Given the description of an element on the screen output the (x, y) to click on. 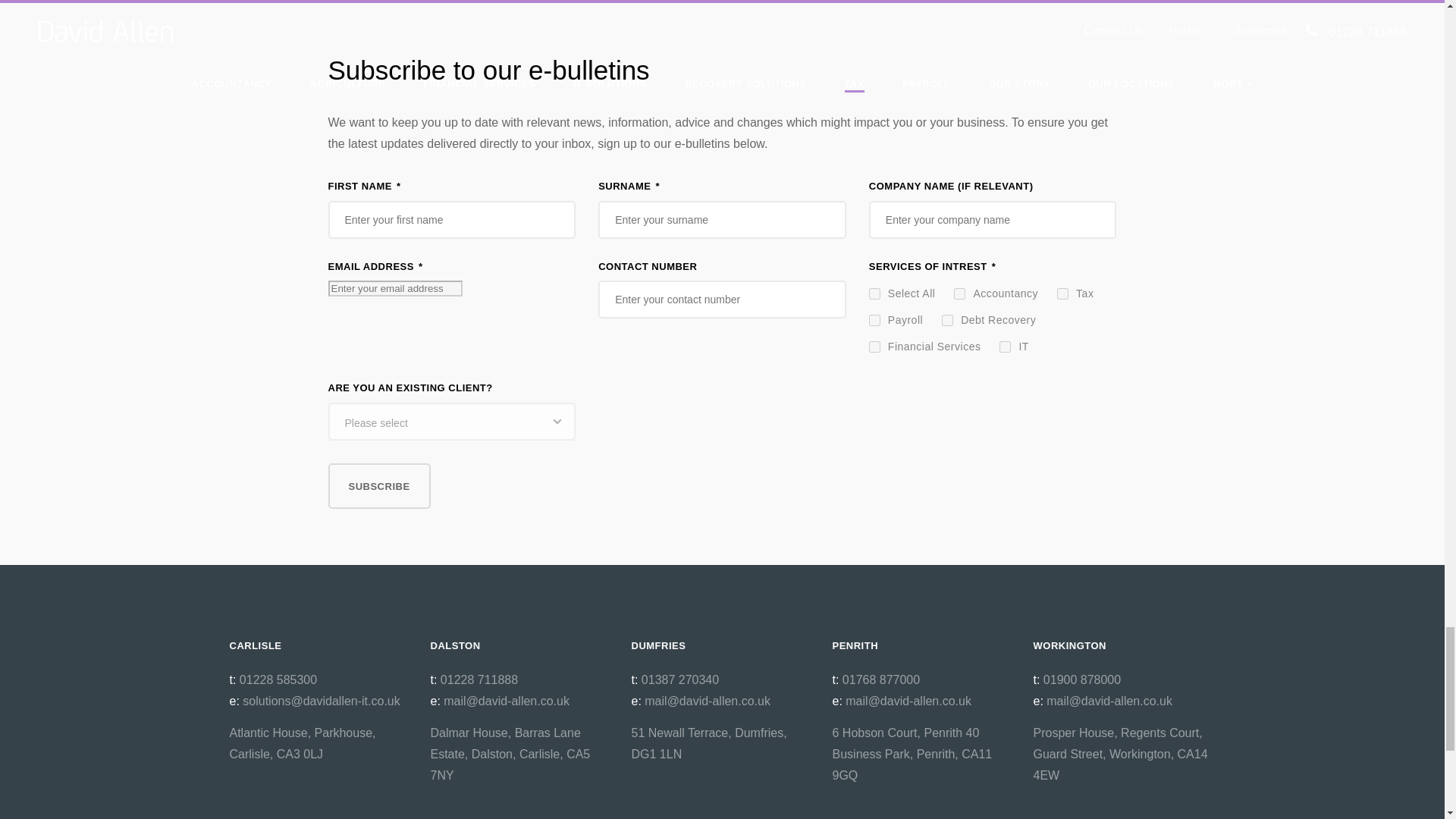
Debt Recovery (947, 319)
Financial Services (874, 346)
IT (1004, 346)
Tax (1062, 293)
Payroll (874, 319)
Accountancy (959, 293)
on (874, 293)
